Given the description of an element on the screen output the (x, y) to click on. 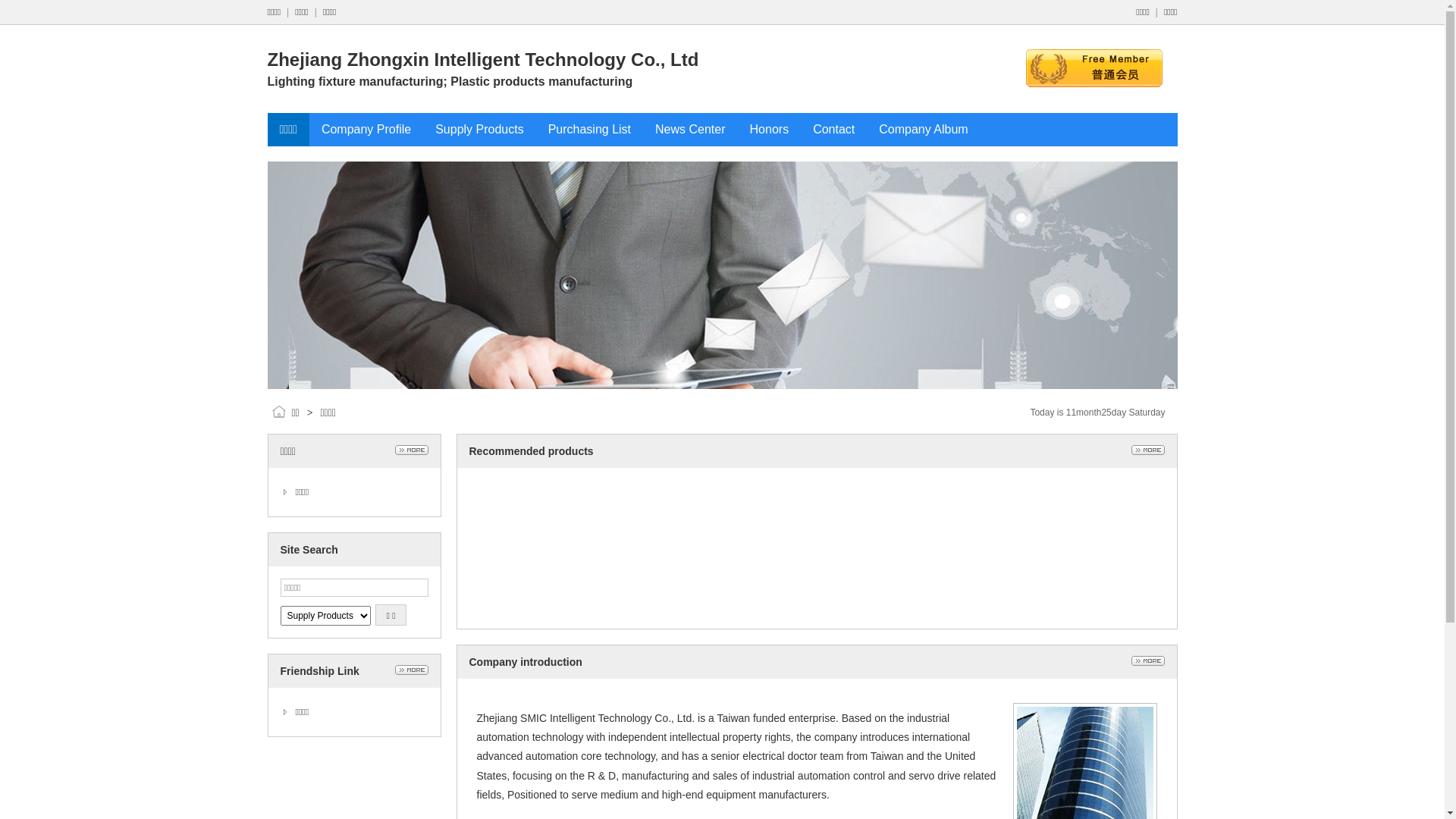
Company Profile Element type: text (366, 128)
Company Album Element type: text (922, 128)
News Center Element type: text (689, 128)
Honors Element type: text (769, 128)
Purchasing List Element type: text (589, 128)
Supply Products Element type: text (479, 128)
Zhejiang Zhongxin Intelligent Technology Co., Ltd Element type: text (482, 59)
Contact Element type: text (833, 128)
